Given the description of an element on the screen output the (x, y) to click on. 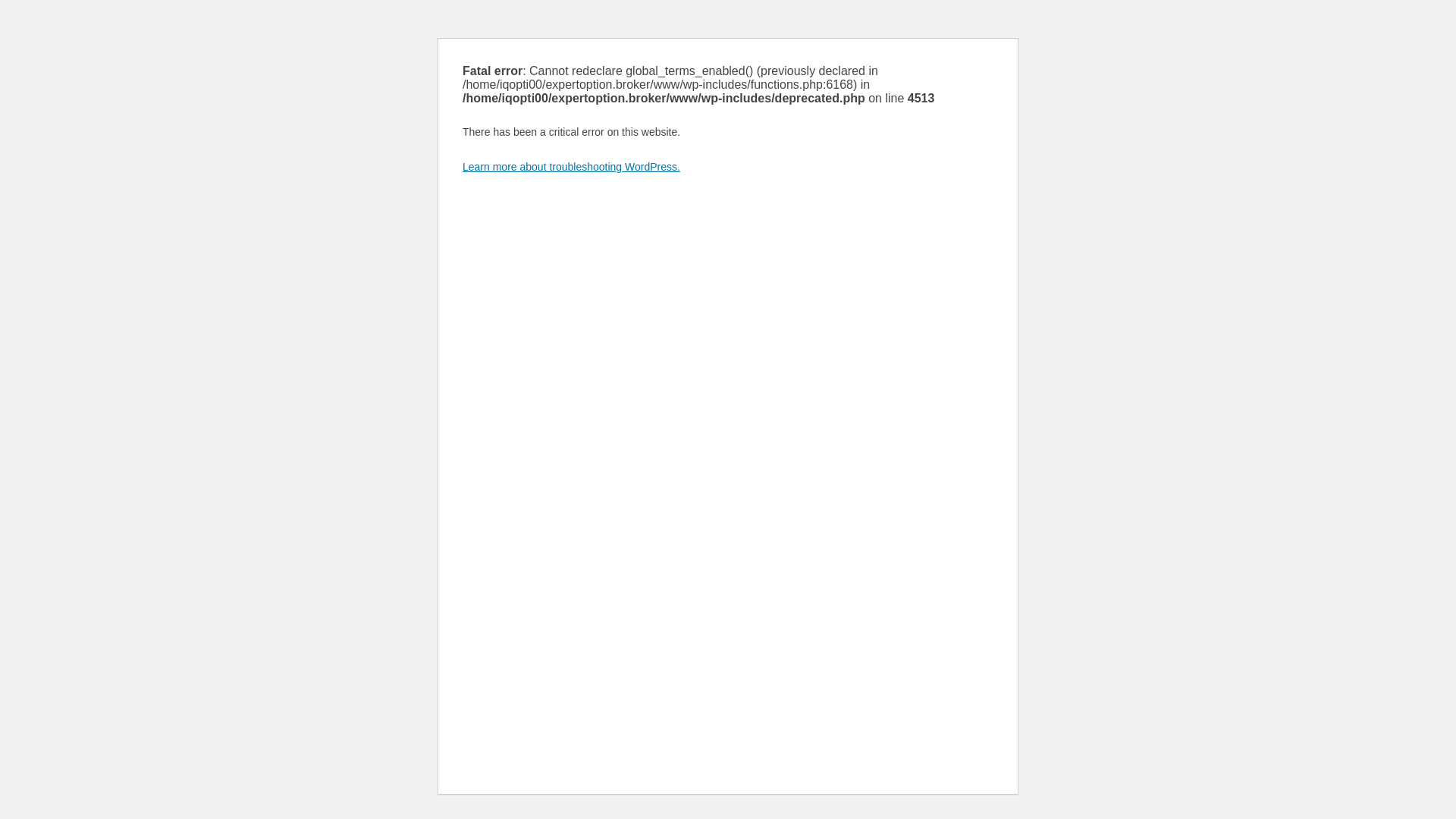
Learn more about troubleshooting WordPress. Element type: text (571, 166)
